Given the description of an element on the screen output the (x, y) to click on. 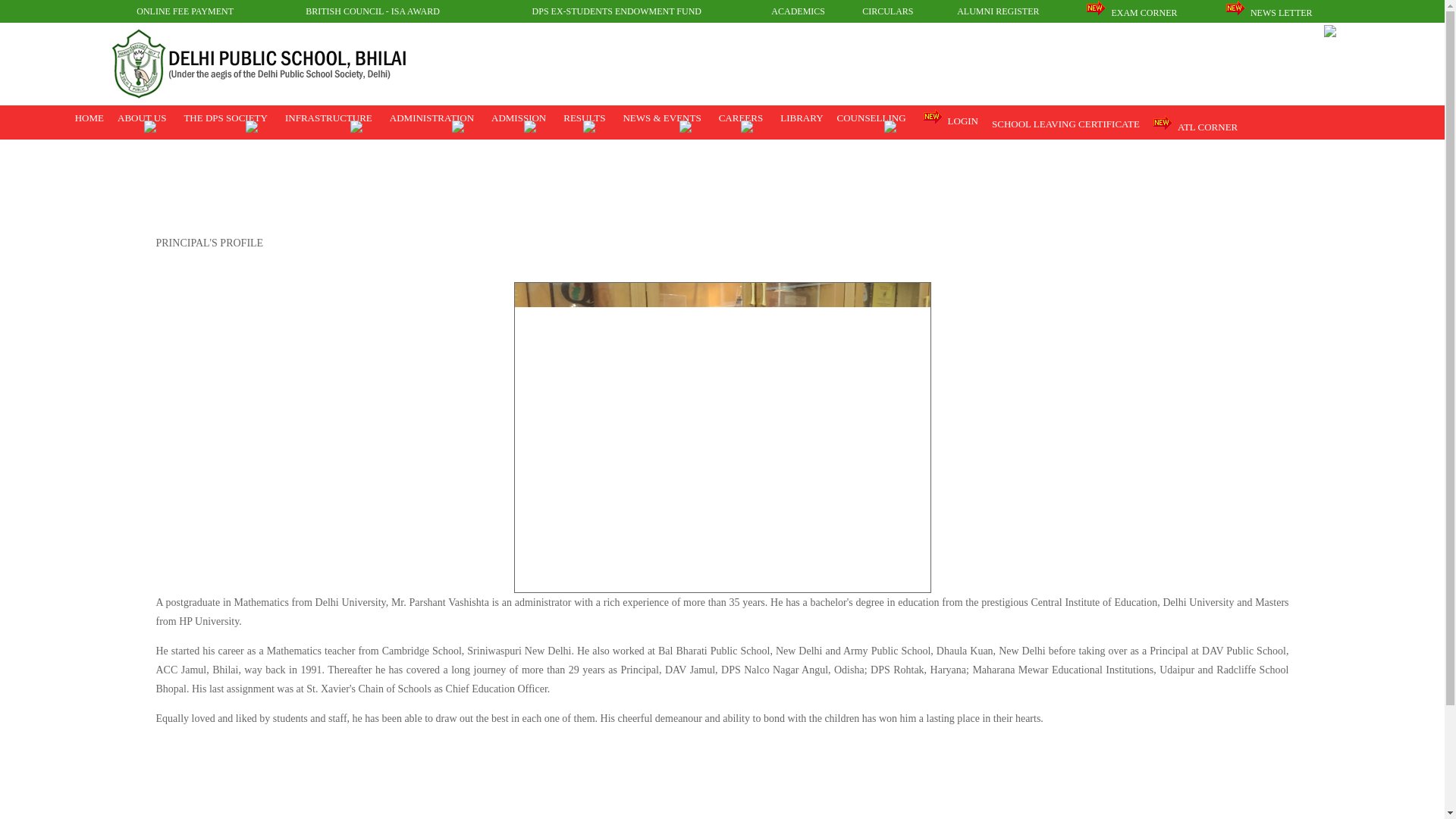
ONLINE FEE PAYMENT (184, 10)
CIRCULARS (886, 10)
NEWS LETTER (1269, 12)
DPS EX-STUDENTS ENDOWMENT FUND (616, 10)
HOME (86, 117)
THE DPS SOCIETY (224, 117)
INFRASTRUCTURE (328, 117)
ALUMNI REGISTER (997, 10)
ACADEMICS (798, 10)
BRITISH COUNCIL - ISA AWARD (372, 10)
